Given the description of an element on the screen output the (x, y) to click on. 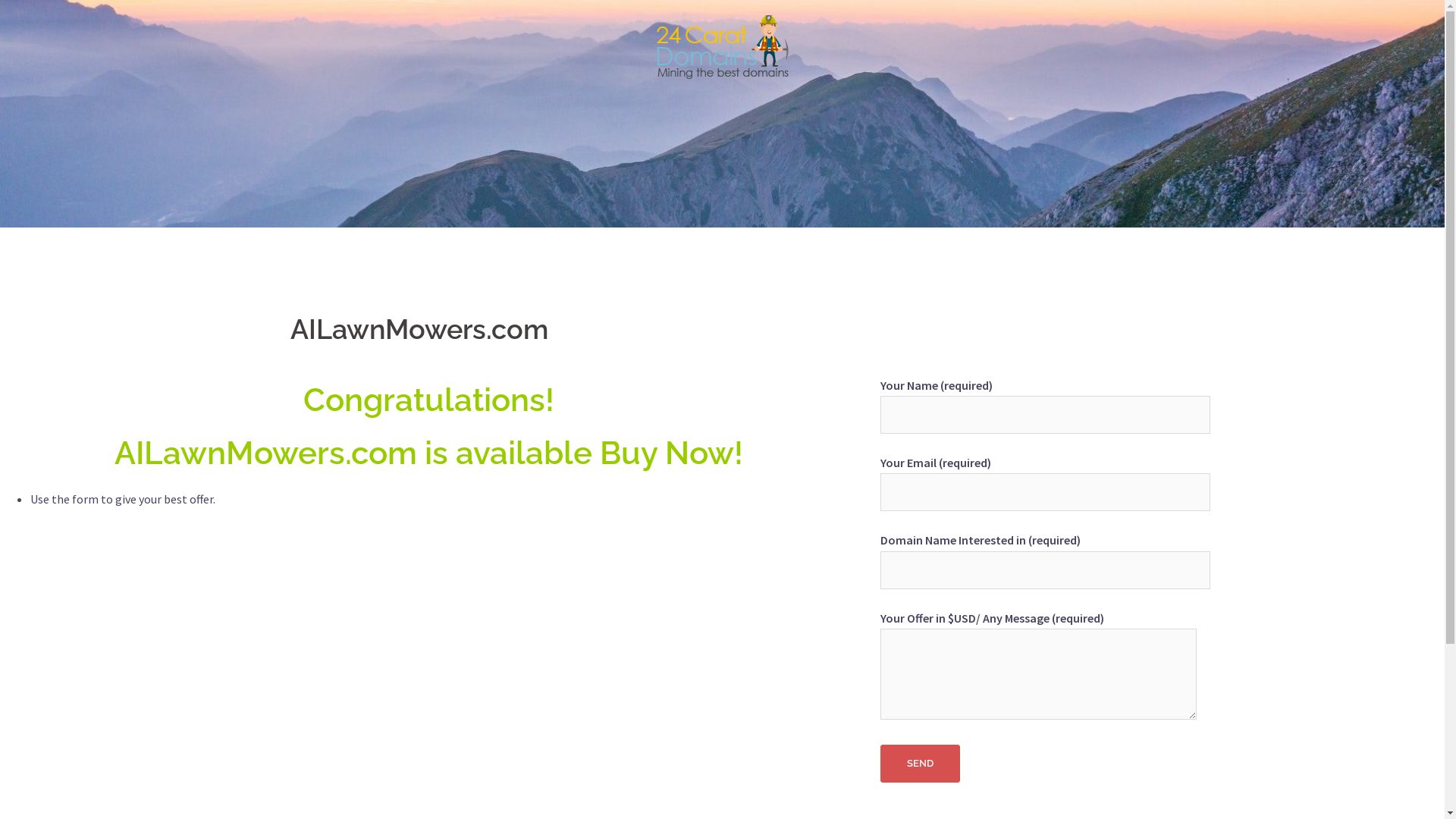
24 Carat Domains Element type: hover (721, 50)
Send Element type: text (920, 763)
